Given the description of an element on the screen output the (x, y) to click on. 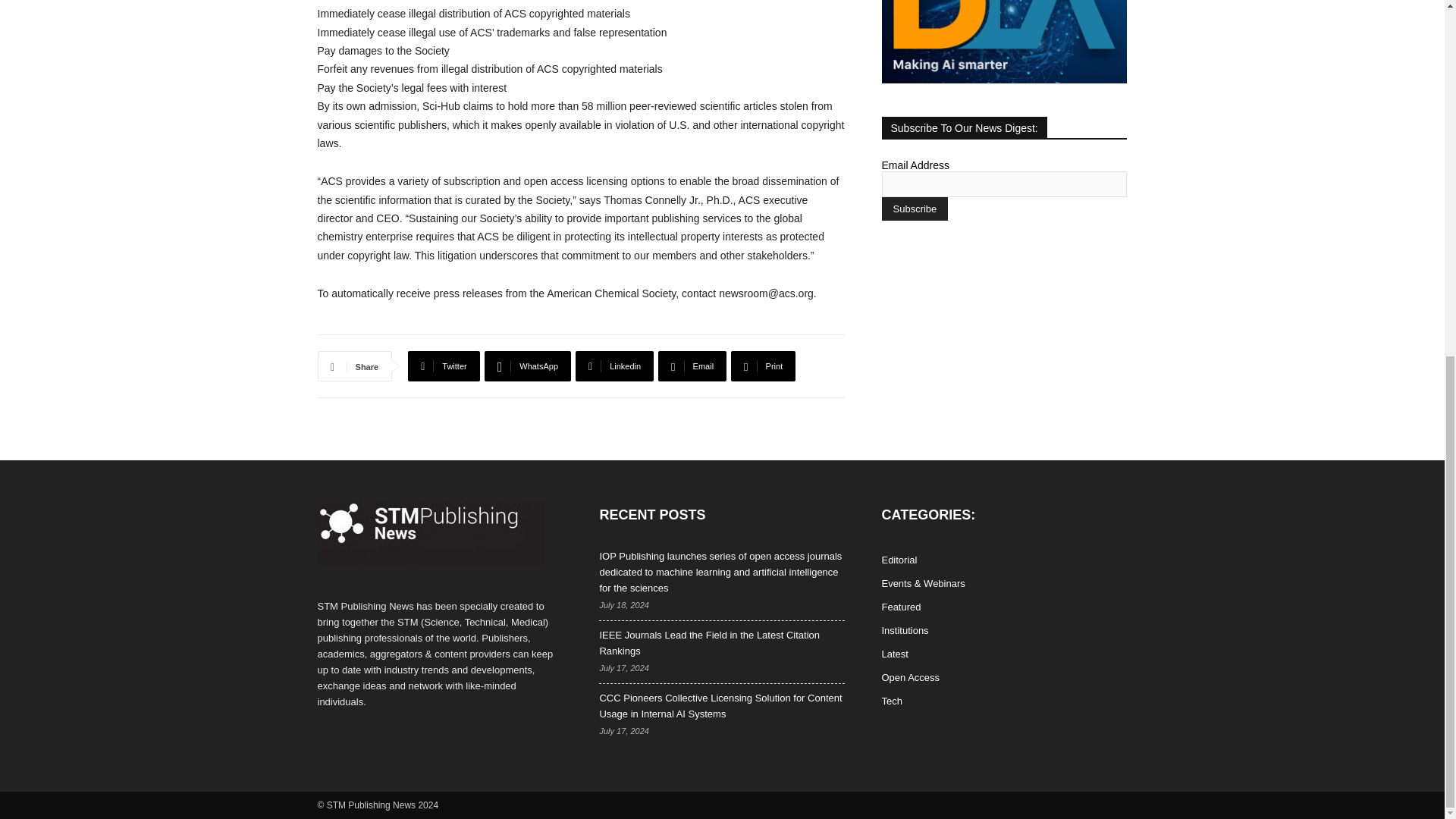
Subscribe (913, 208)
